Given the description of an element on the screen output the (x, y) to click on. 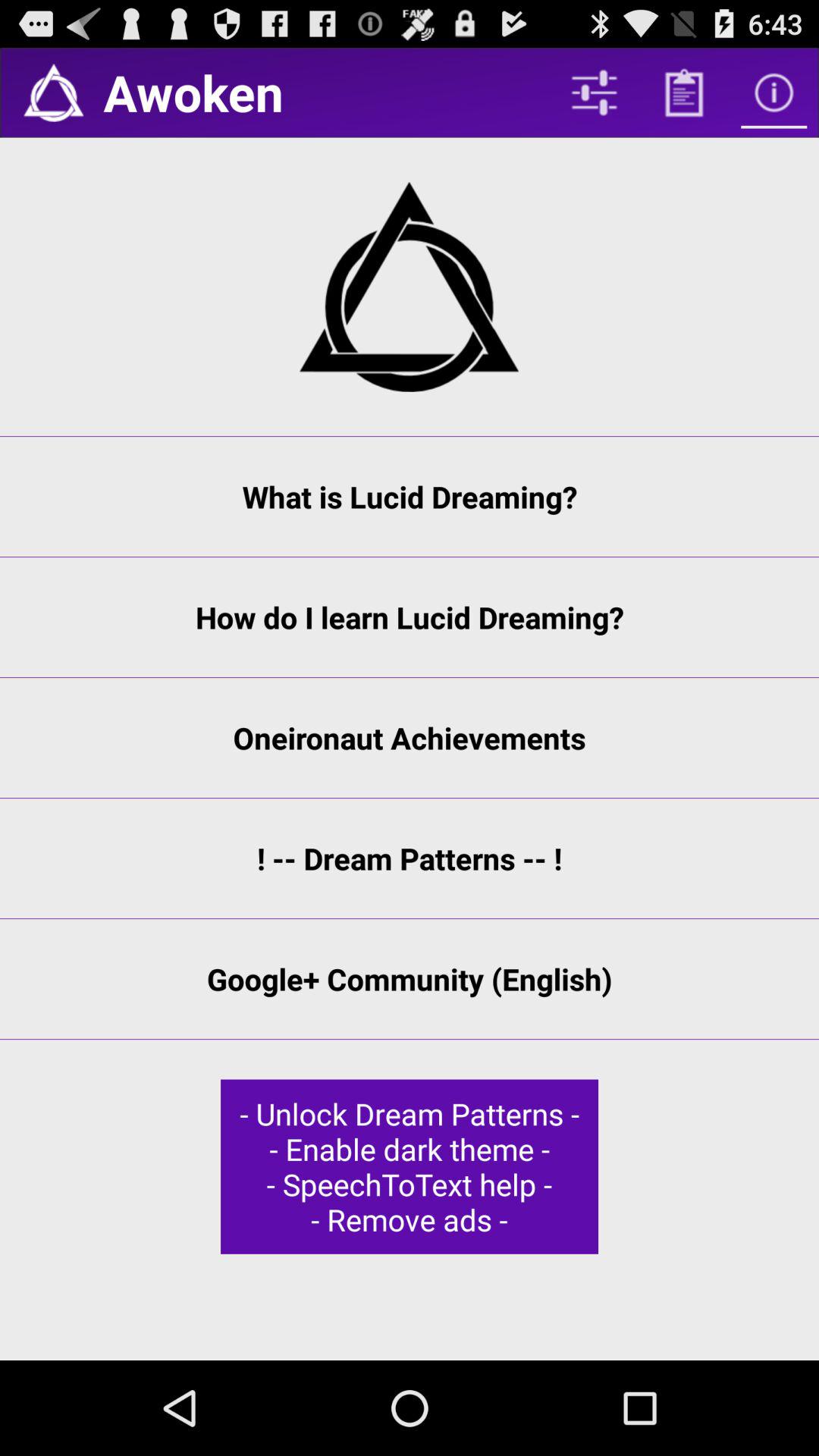
select the app below what is lucid item (409, 617)
